Given the description of an element on the screen output the (x, y) to click on. 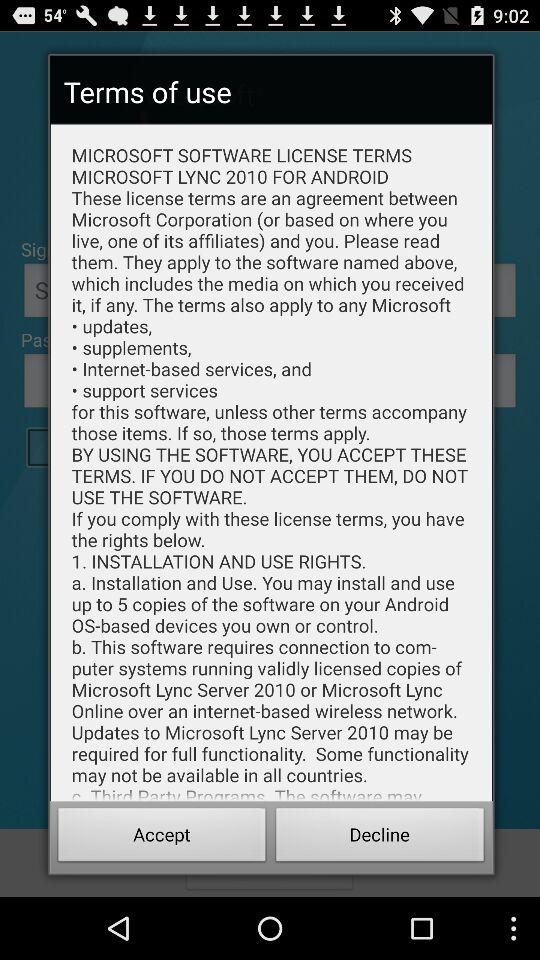
jump to the accept (162, 837)
